Given the description of an element on the screen output the (x, y) to click on. 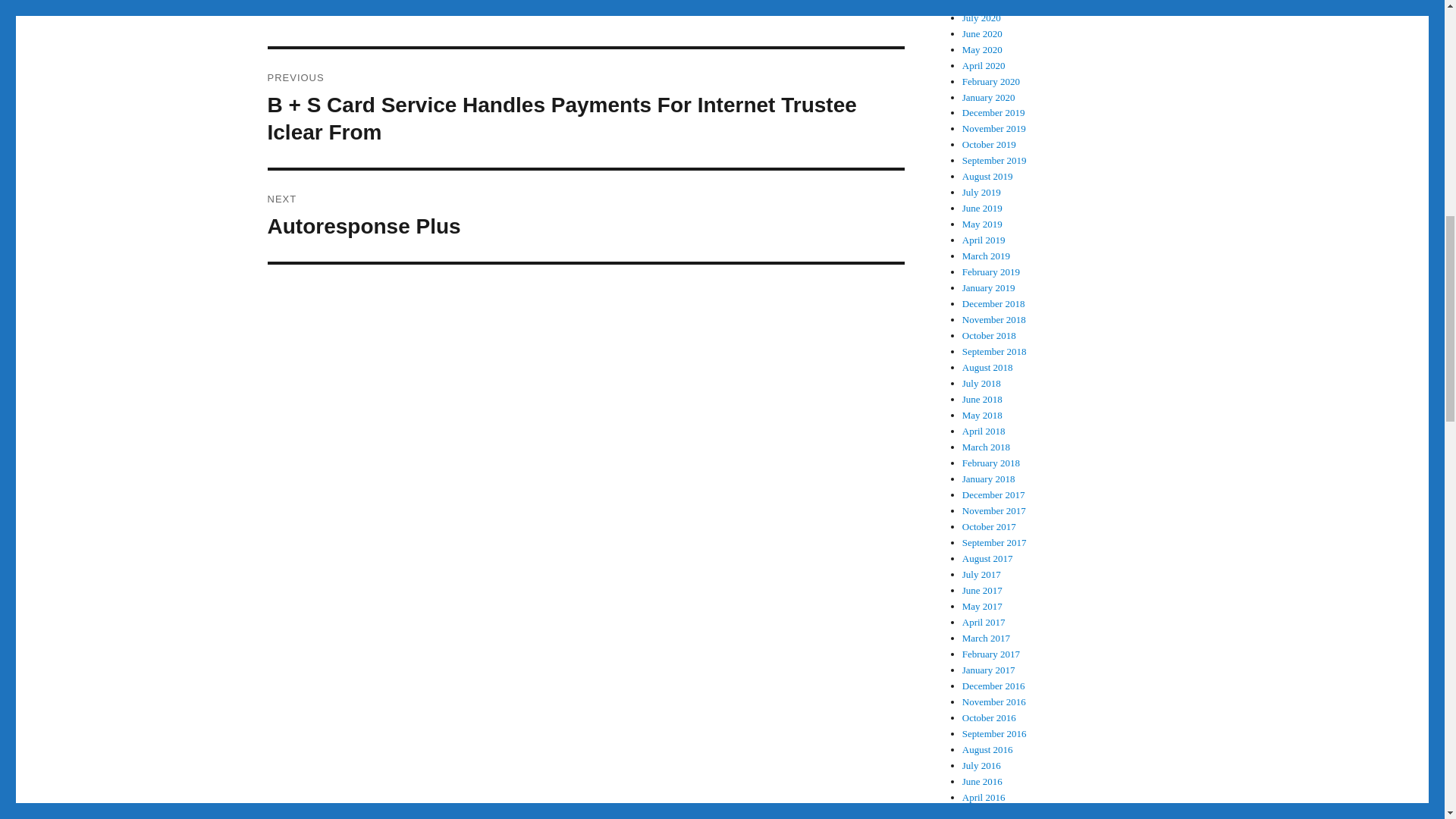
April 2020 (984, 65)
July 2020 (981, 17)
December 2019 (993, 112)
May 2020 (982, 49)
October 2019 (989, 143)
November 2019 (994, 128)
July 2019 (981, 192)
June 2020 (982, 33)
August 2019 (987, 175)
January 2020 (988, 96)
